Given the description of an element on the screen output the (x, y) to click on. 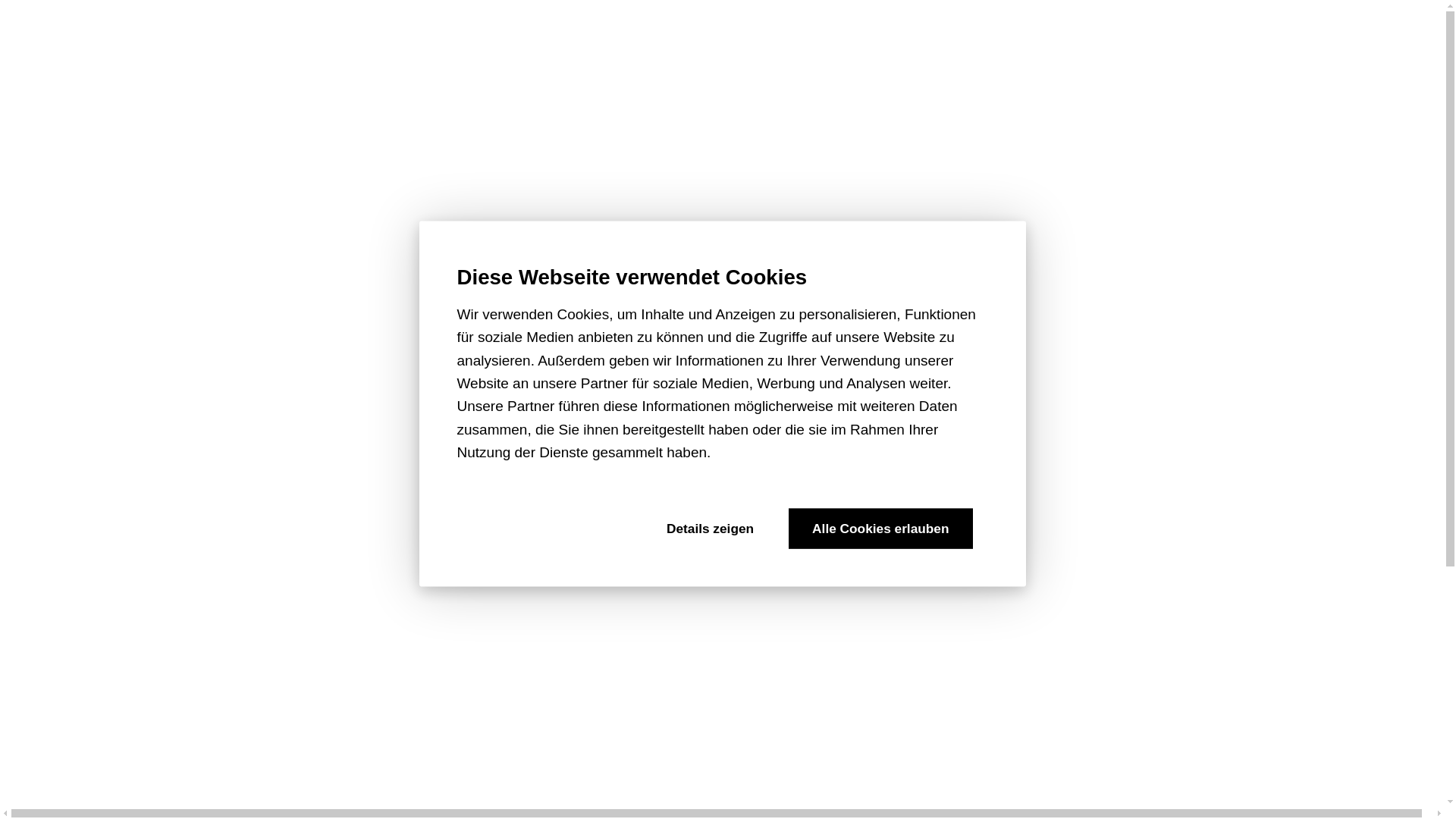
Details zeigen (710, 527)
Alle Cookies erlauben (880, 527)
Logo (151, 781)
downloads (151, 741)
back (26, 9)
